Given the description of an element on the screen output the (x, y) to click on. 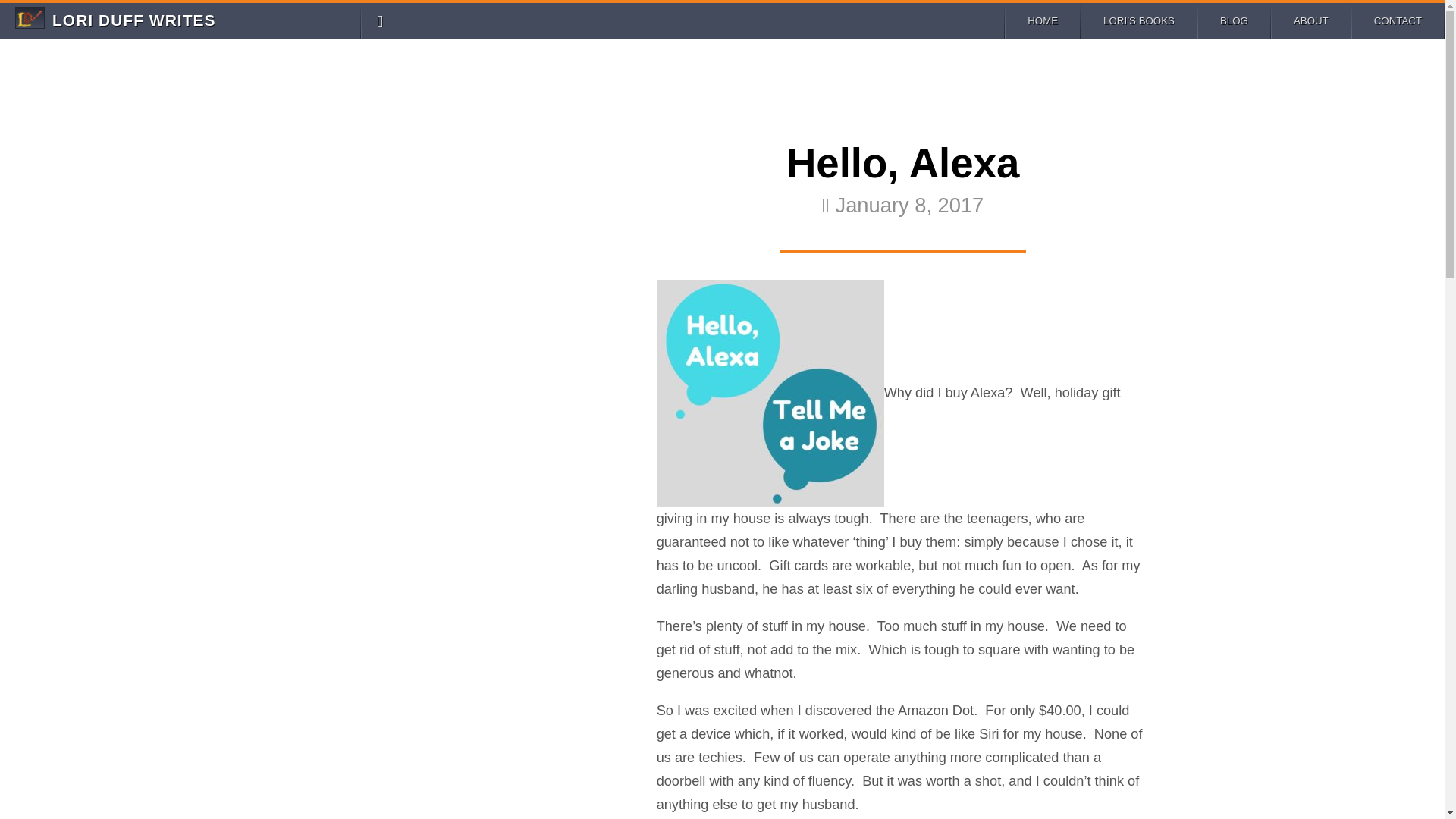
HOME (1042, 20)
hide sidebar (379, 17)
Permalink to Hello, Alexa (903, 183)
Lori Duff Writes  (903, 183)
LORI DUFF WRITES (133, 19)
ABOUT (133, 19)
BLOG (1311, 20)
